Given the description of an element on the screen output the (x, y) to click on. 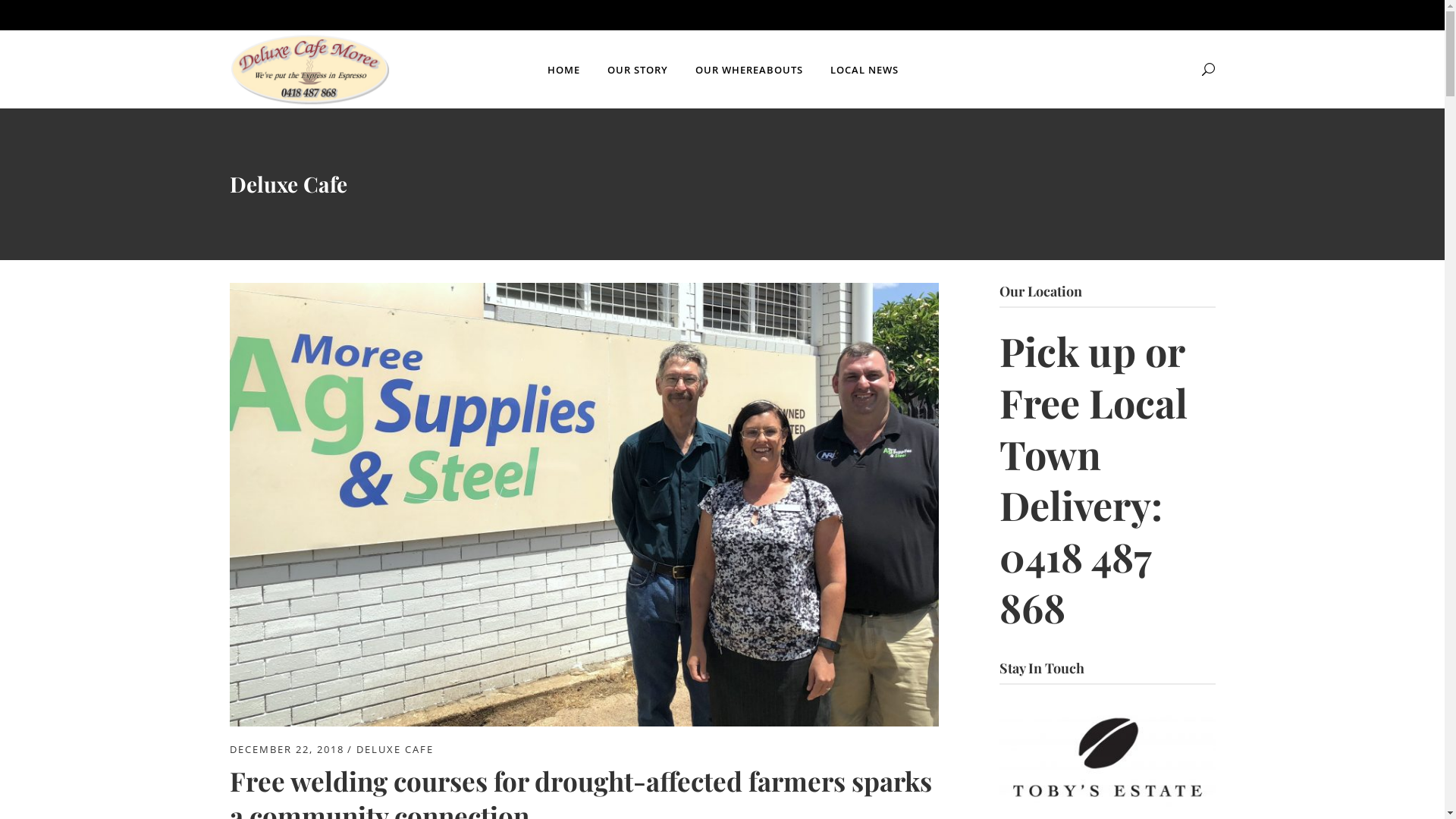
OUR STORY Element type: text (636, 69)
U Element type: text (988, 411)
DELUXE CAFE Element type: text (394, 749)
OUR WHEREABOUTS Element type: text (747, 69)
HOME Element type: text (563, 69)
LOCAL NEWS Element type: text (863, 69)
